Given the description of an element on the screen output the (x, y) to click on. 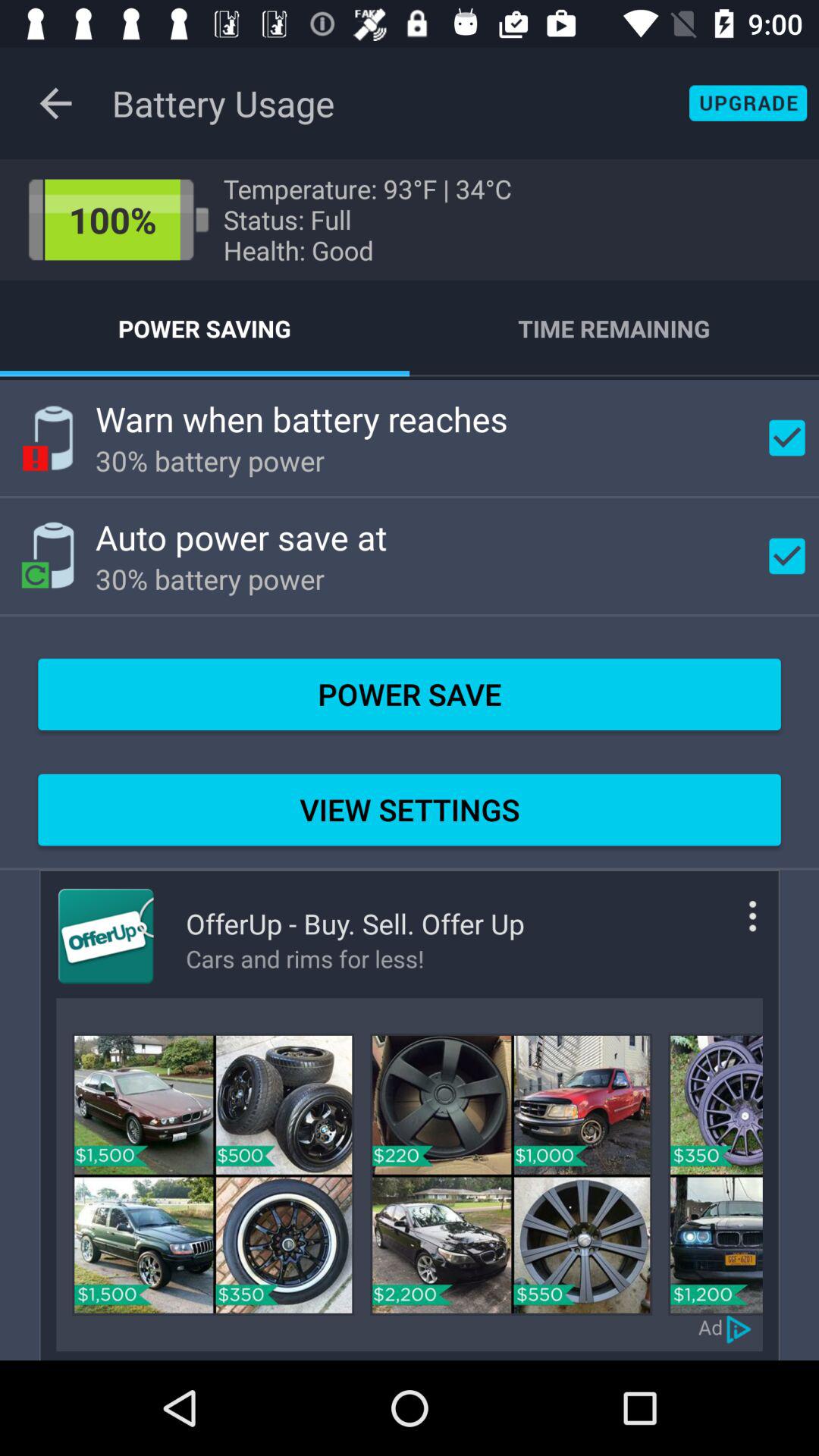
tap the item below the temperature 93 f (614, 328)
